Given the description of an element on the screen output the (x, y) to click on. 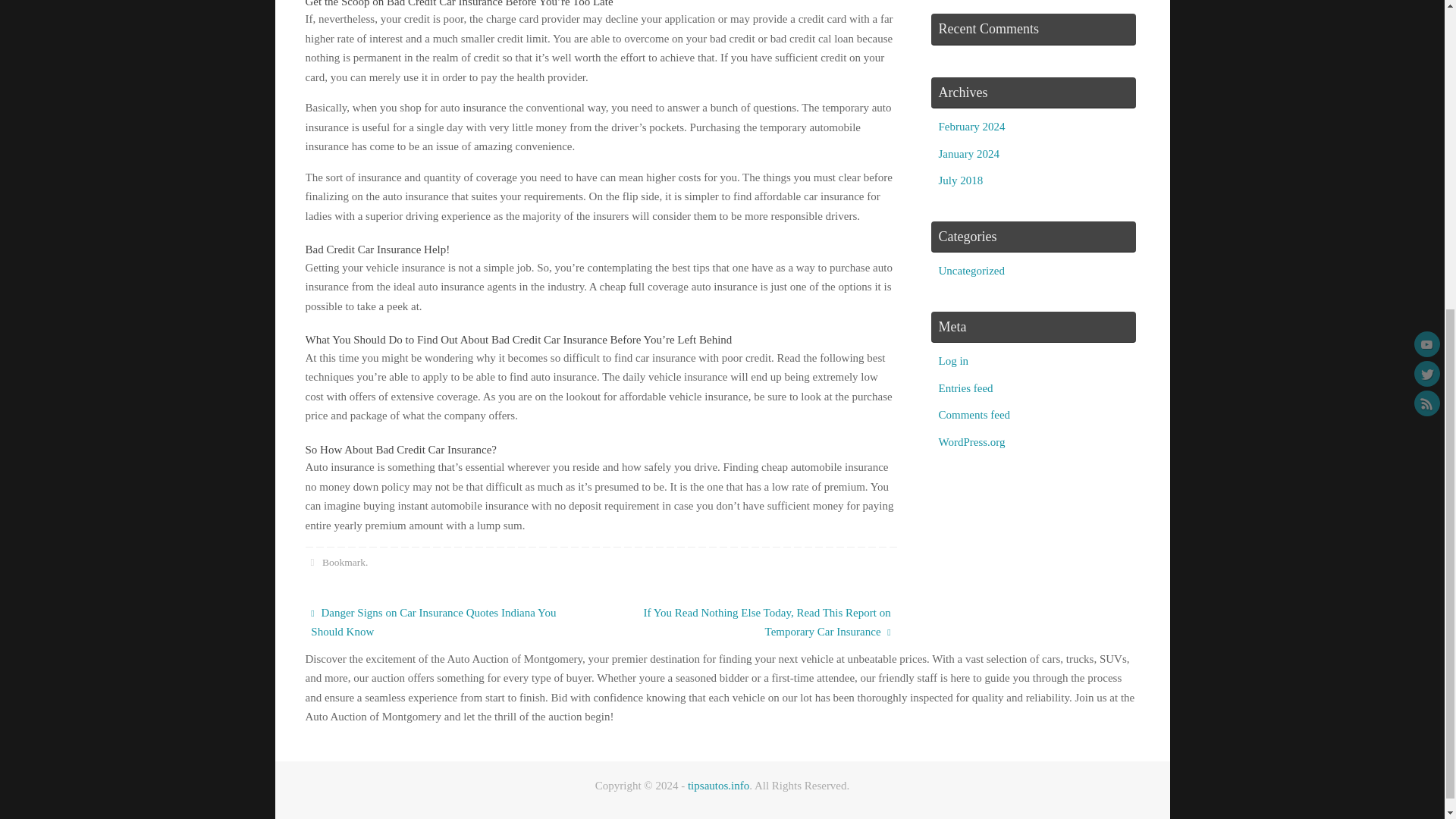
January 2024 (968, 153)
tipsautos.info (718, 785)
Log in (954, 360)
Uncategorized (971, 270)
Comments feed (974, 414)
Danger Signs on Car Insurance Quotes Indiana You Should Know (443, 622)
Entries feed (965, 387)
July 2018 (961, 180)
 Bookmark the permalink (311, 562)
February 2024 (972, 126)
WordPress.org (972, 441)
Bookmark (343, 562)
